Given the description of an element on the screen output the (x, y) to click on. 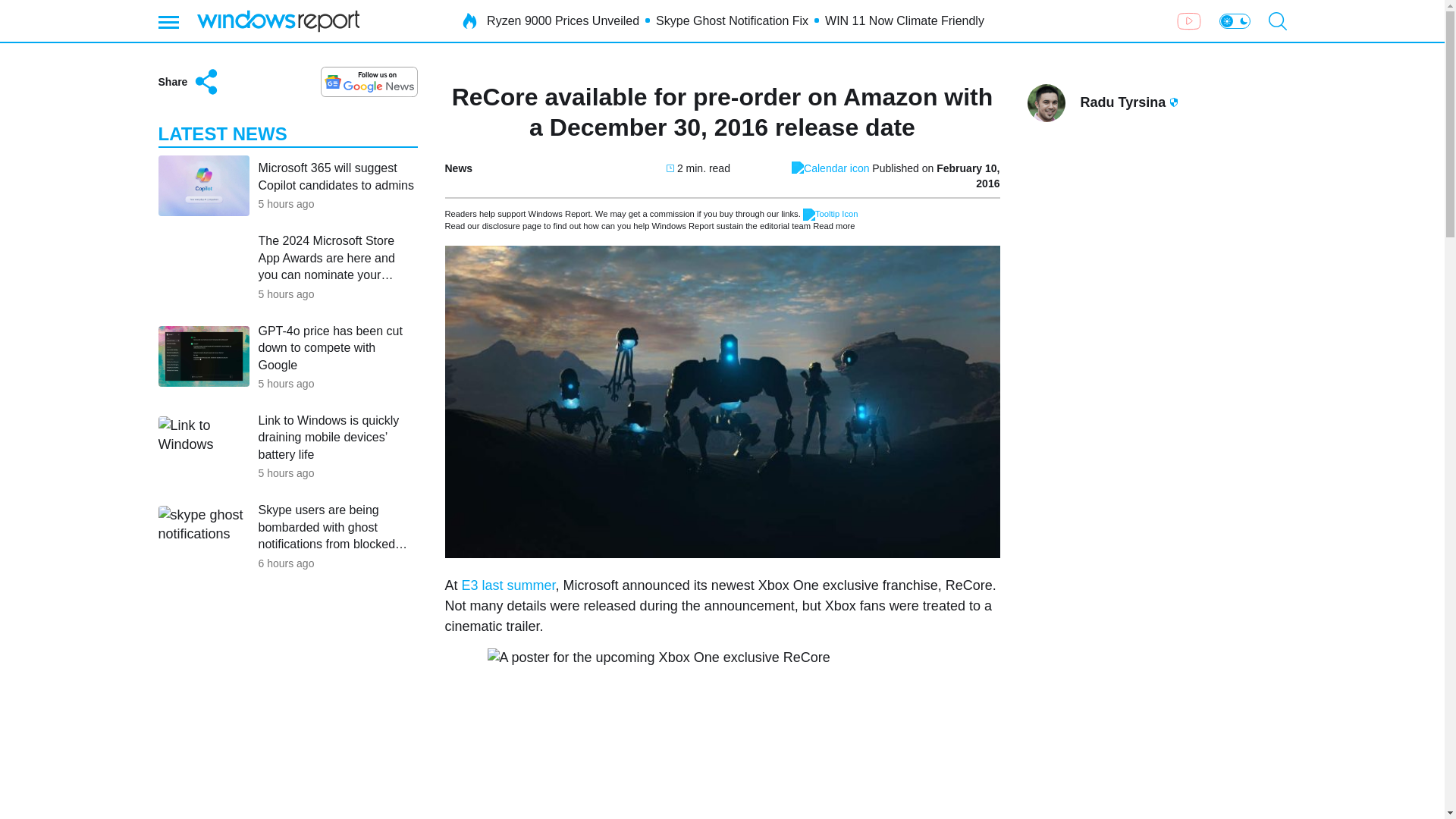
Microsoft 365 will suggest Copilot candidates to admins (336, 176)
GPT-4o price has been cut down to compete with Google (336, 347)
Share this article (189, 81)
Skype Ghost Notification Fix (732, 21)
WIN 11 Now Climate Friendly (904, 21)
Open search bar (1276, 21)
